Given the description of an element on the screen output the (x, y) to click on. 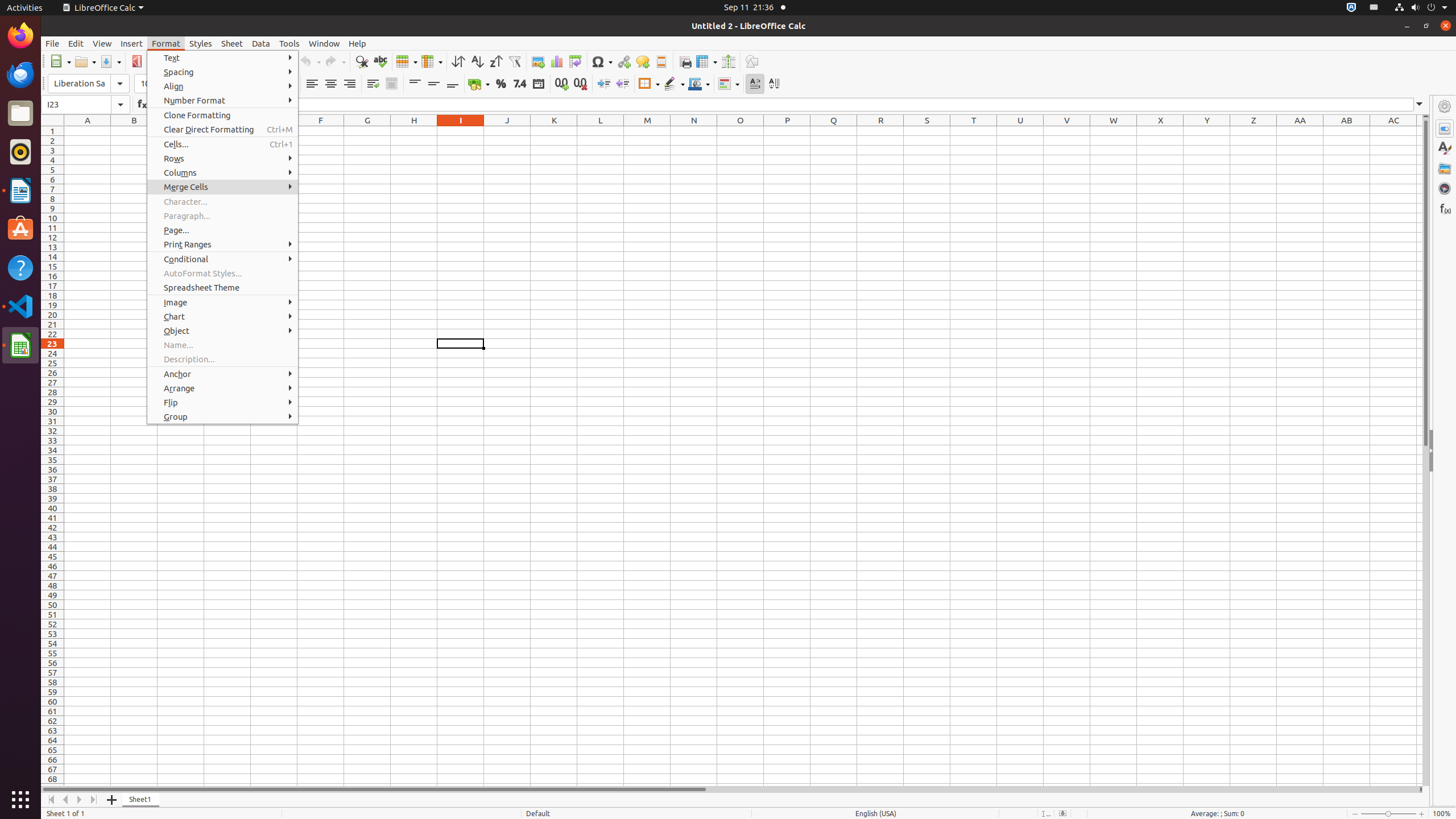
Sheet Element type: menu (231, 43)
Chart Element type: push-button (556, 61)
Add Decimal Place Element type: push-button (561, 83)
Group Element type: menu (222, 416)
Text direction from left to right Element type: toggle-button (754, 83)
